Given the description of an element on the screen output the (x, y) to click on. 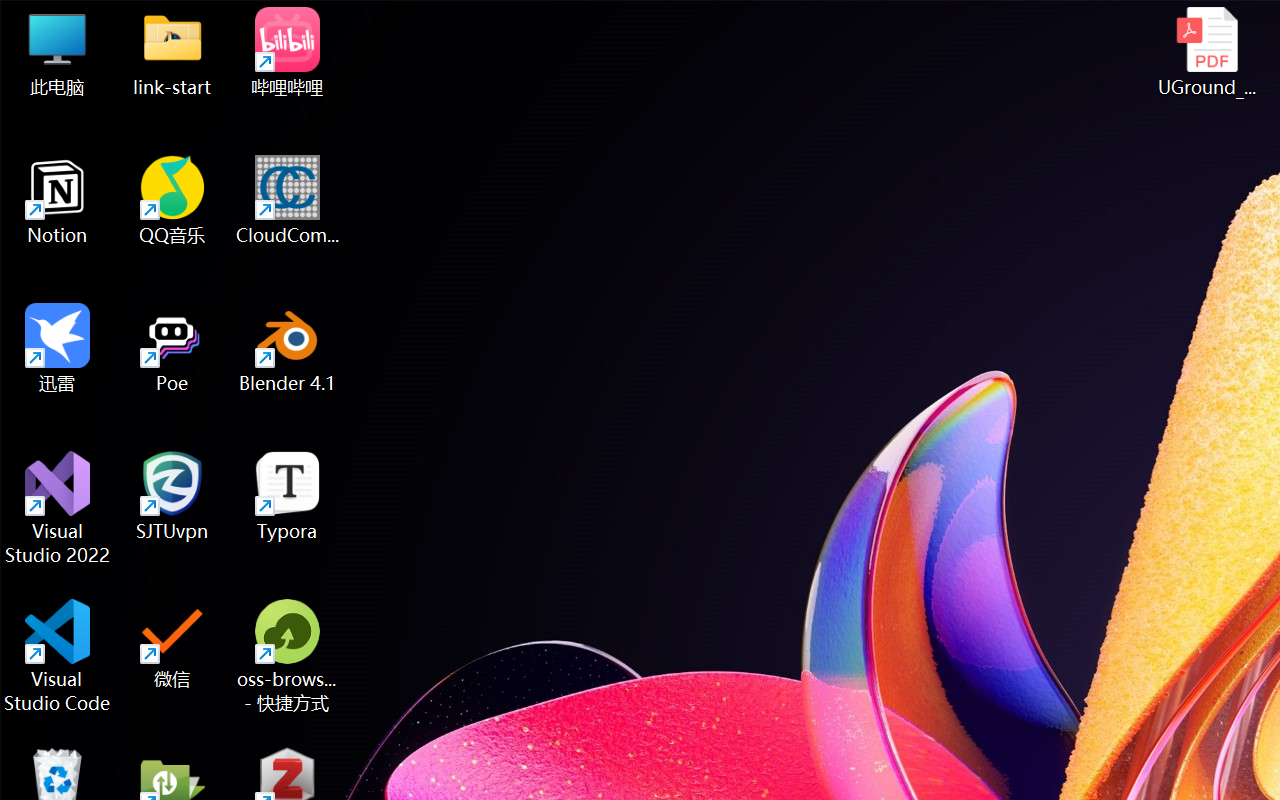
Typora (287, 496)
Visual Studio Code (57, 656)
CloudCompare (287, 200)
UGround_paper.pdf (1206, 52)
Visual Studio 2022 (57, 508)
SJTUvpn (172, 496)
Blender 4.1 (287, 348)
